Given the description of an element on the screen output the (x, y) to click on. 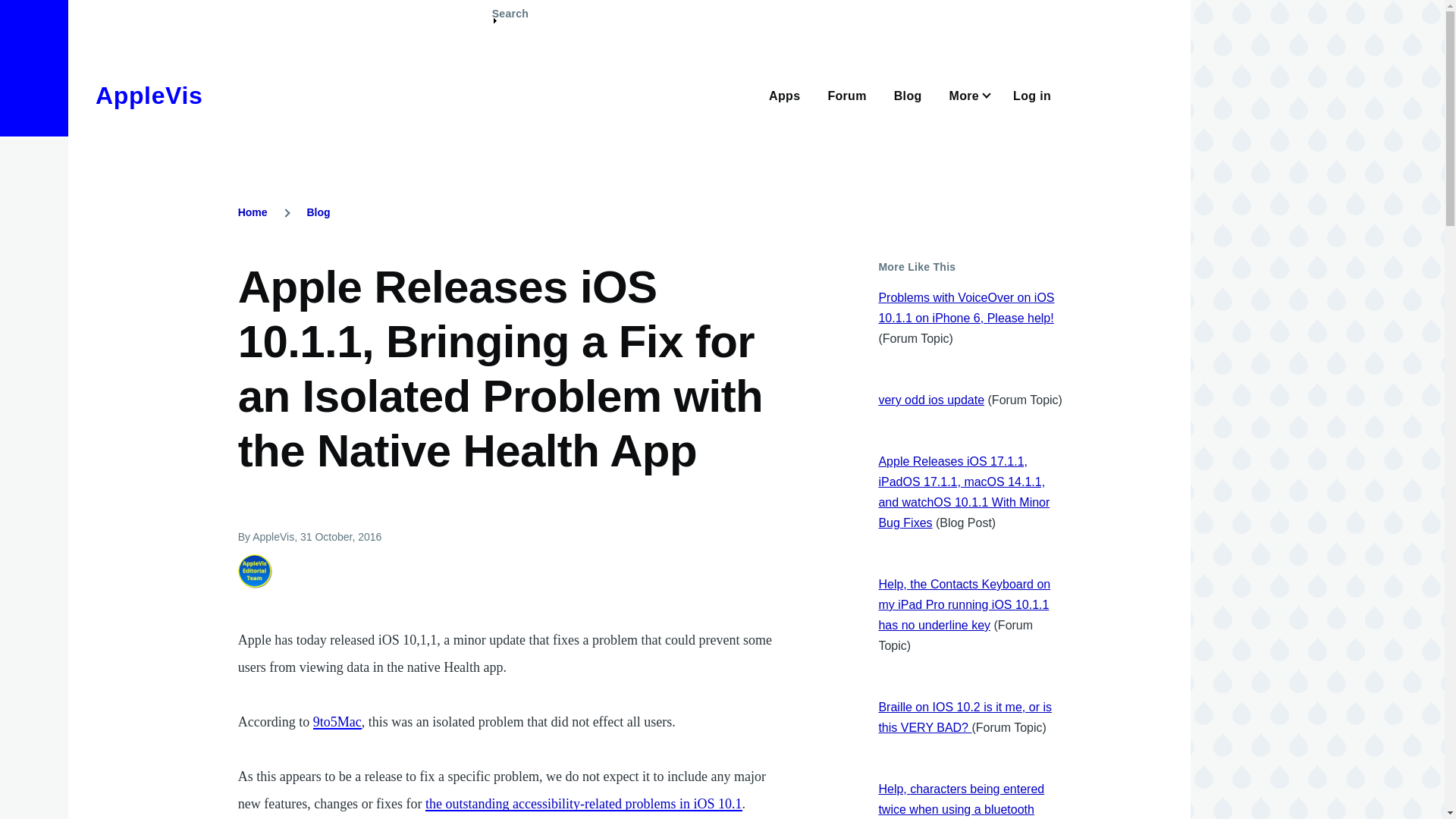
Home (252, 212)
the outstanding accessibility-related problems in iOS 10.1 (583, 803)
Braille on IOS 10.2 is it me, or is this VERY BAD? (964, 717)
Search (510, 20)
9to5Mac (337, 721)
Skip to main content (595, 6)
AppleVis (149, 94)
Blog (317, 212)
Home (149, 94)
very odd ios update (930, 399)
